Given the description of an element on the screen output the (x, y) to click on. 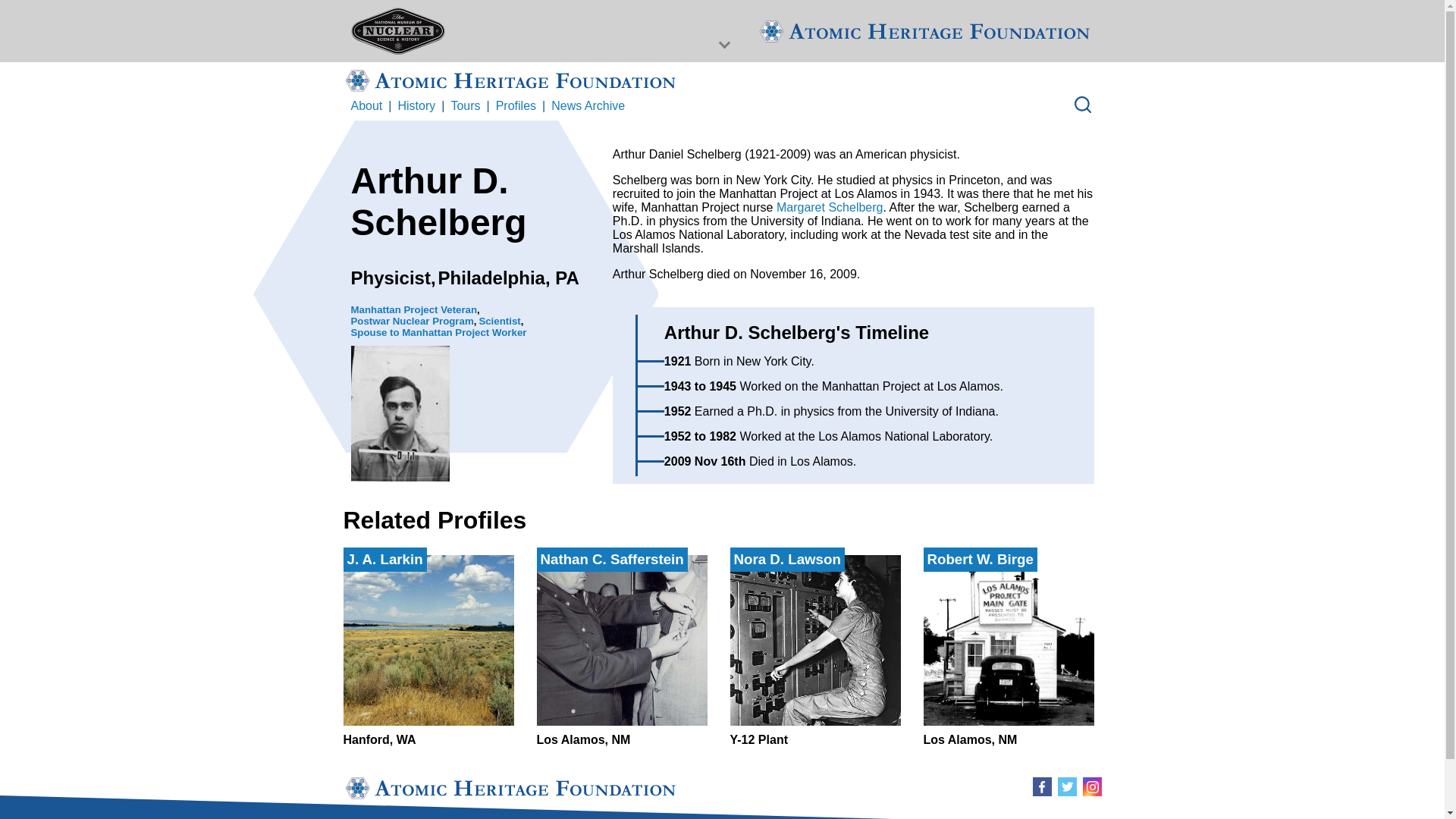
Manhattan Project Veteran (413, 309)
News Archive (1008, 650)
Scientist (587, 106)
Tours (499, 320)
Spouse to Manhattan Project Worker (427, 650)
History (814, 650)
Postwar Nuclear Program (464, 106)
Profiles (437, 332)
Margaret Schelberg (416, 106)
About (411, 320)
